Given the description of an element on the screen output the (x, y) to click on. 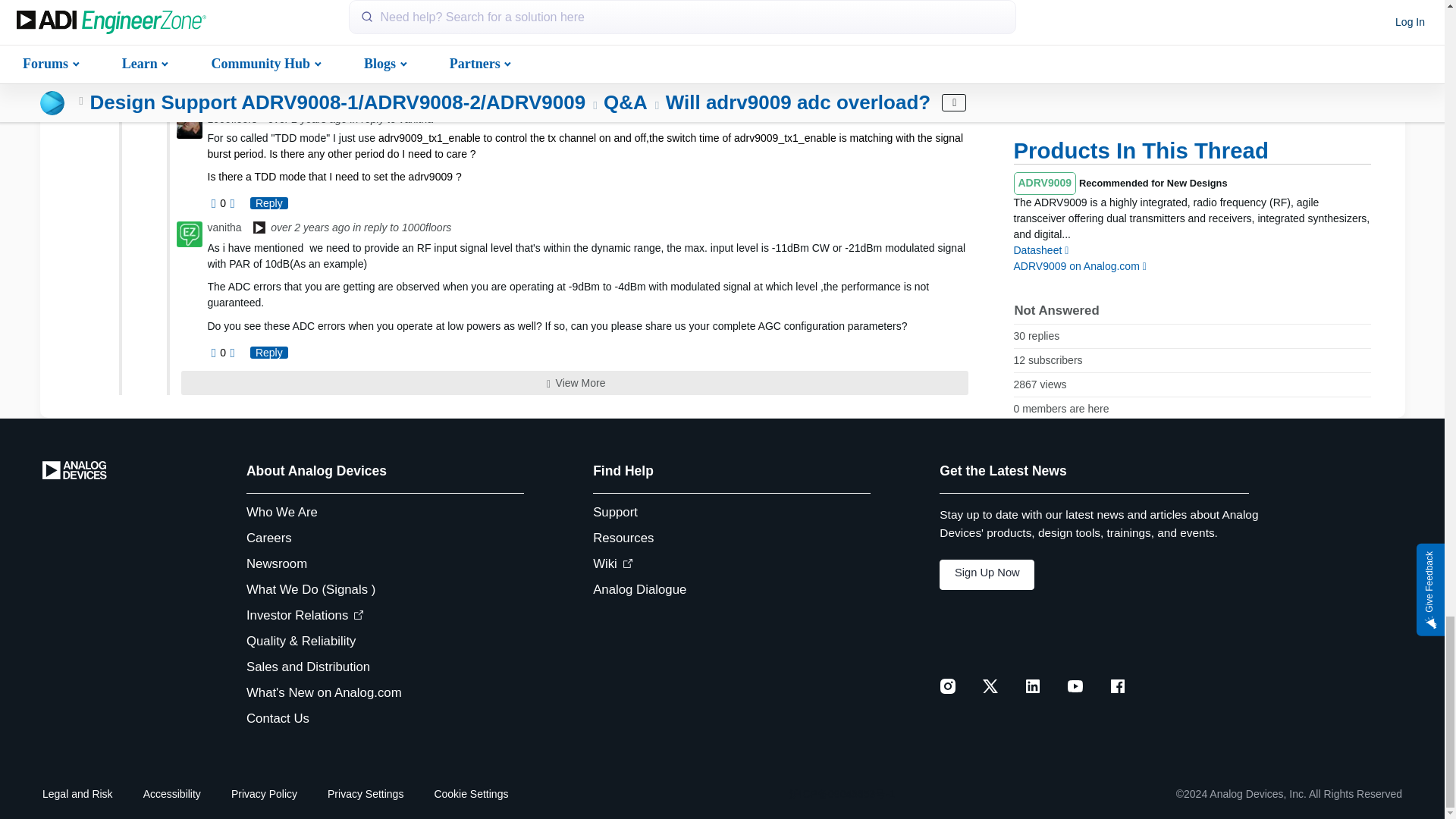
Analog Employees (258, 228)
Analog Employees (258, 48)
